Given the description of an element on the screen output the (x, y) to click on. 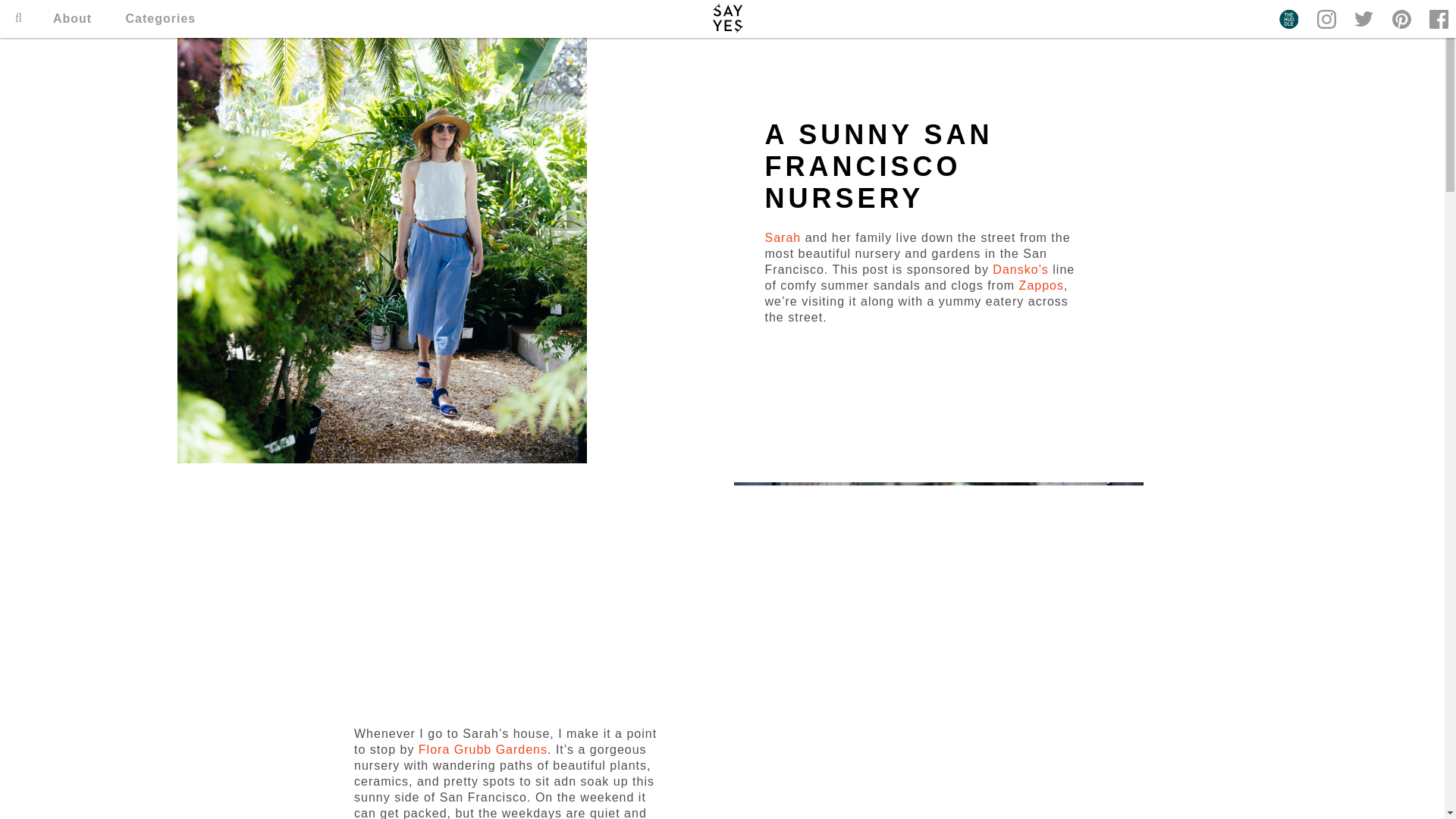
Flora Grubb Gardens (483, 748)
Zappos (1039, 285)
Sarah (782, 237)
About (71, 18)
Categories (160, 18)
